Given the description of an element on the screen output the (x, y) to click on. 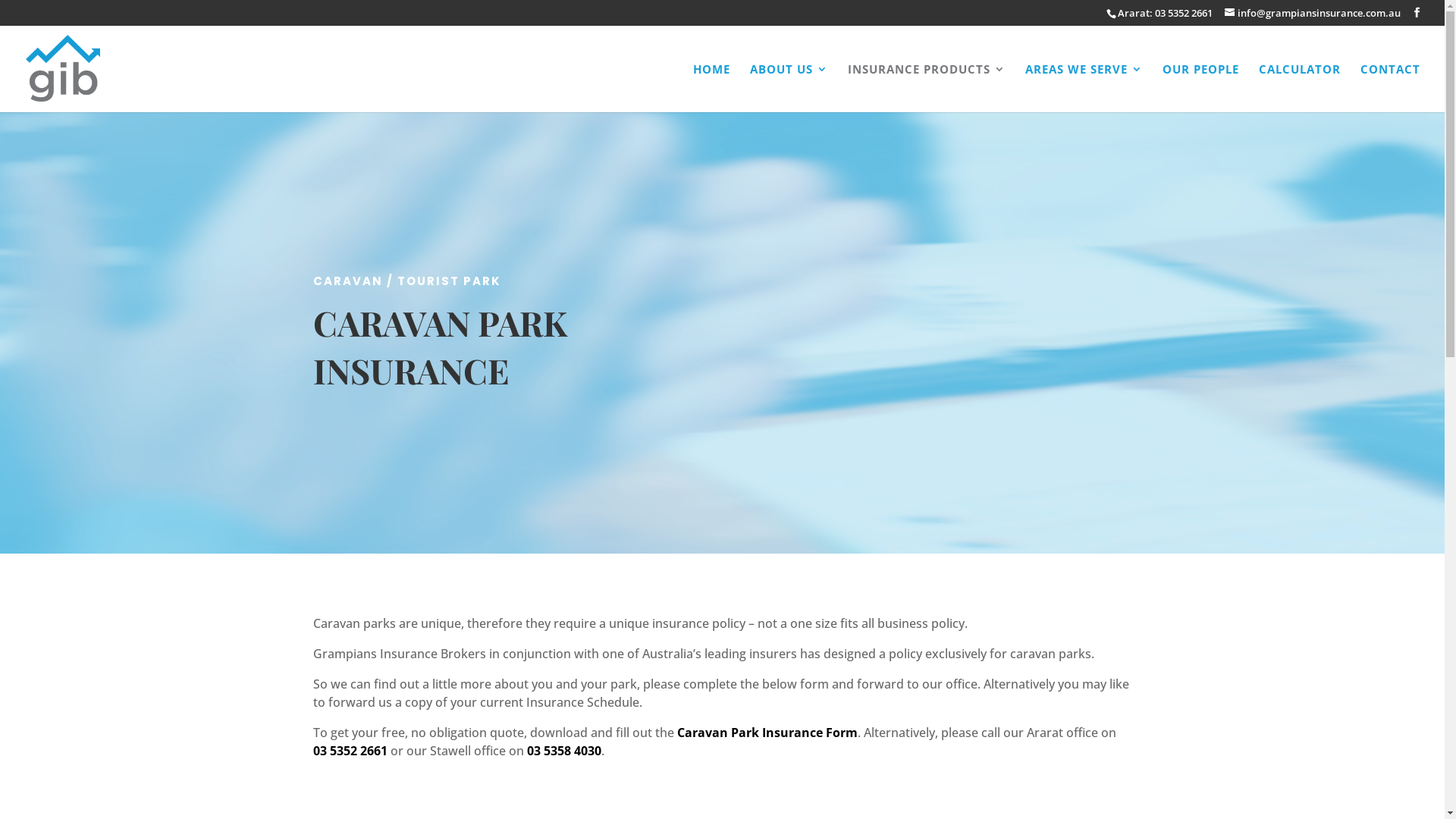
03 5358 4030 Element type: text (563, 750)
Caravan Park Insurance Form Element type: text (766, 732)
HOME Element type: text (711, 87)
CONTACT Element type: text (1390, 87)
ABOUT US Element type: text (788, 87)
CALCULATOR Element type: text (1299, 87)
info@grampiansinsurance.com.au Element type: text (1312, 12)
INSURANCE PRODUCTS Element type: text (926, 87)
OUR PEOPLE Element type: text (1200, 87)
AREAS WE SERVE Element type: text (1083, 87)
03 5352 2661 Element type: text (349, 750)
03 5352 2661 Element type: text (1182, 12)
